Given the description of an element on the screen output the (x, y) to click on. 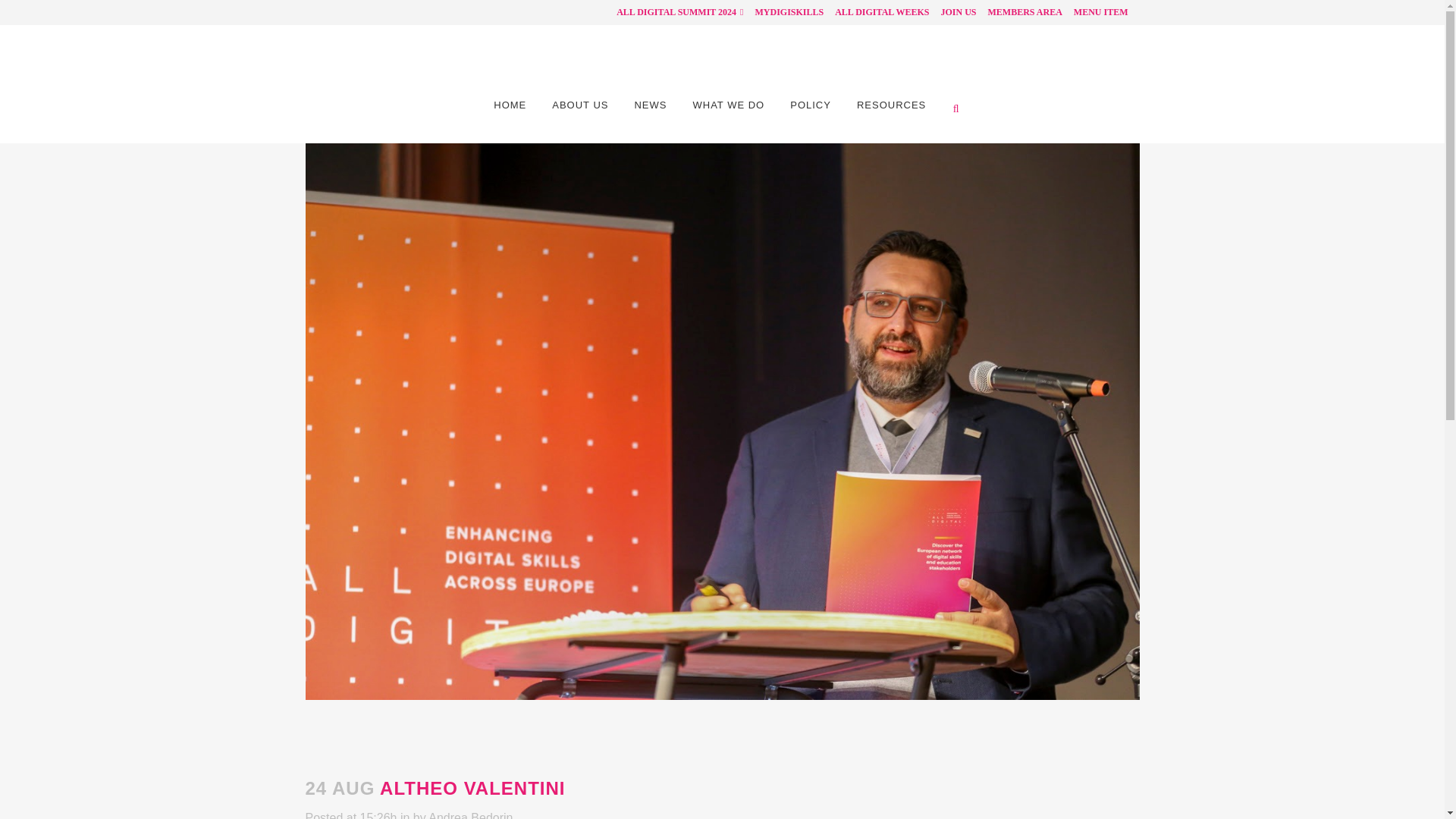
ABOUT US (579, 105)
MENU ITEM (1095, 12)
WHAT WE DO (728, 105)
JOIN US (951, 12)
MEMBERS AREA (1018, 12)
MYDIGISKILLS (783, 12)
ALL DIGITAL WEEKS (876, 12)
ALL DIGITAL SUMMIT 2024 (673, 12)
